Given the description of an element on the screen output the (x, y) to click on. 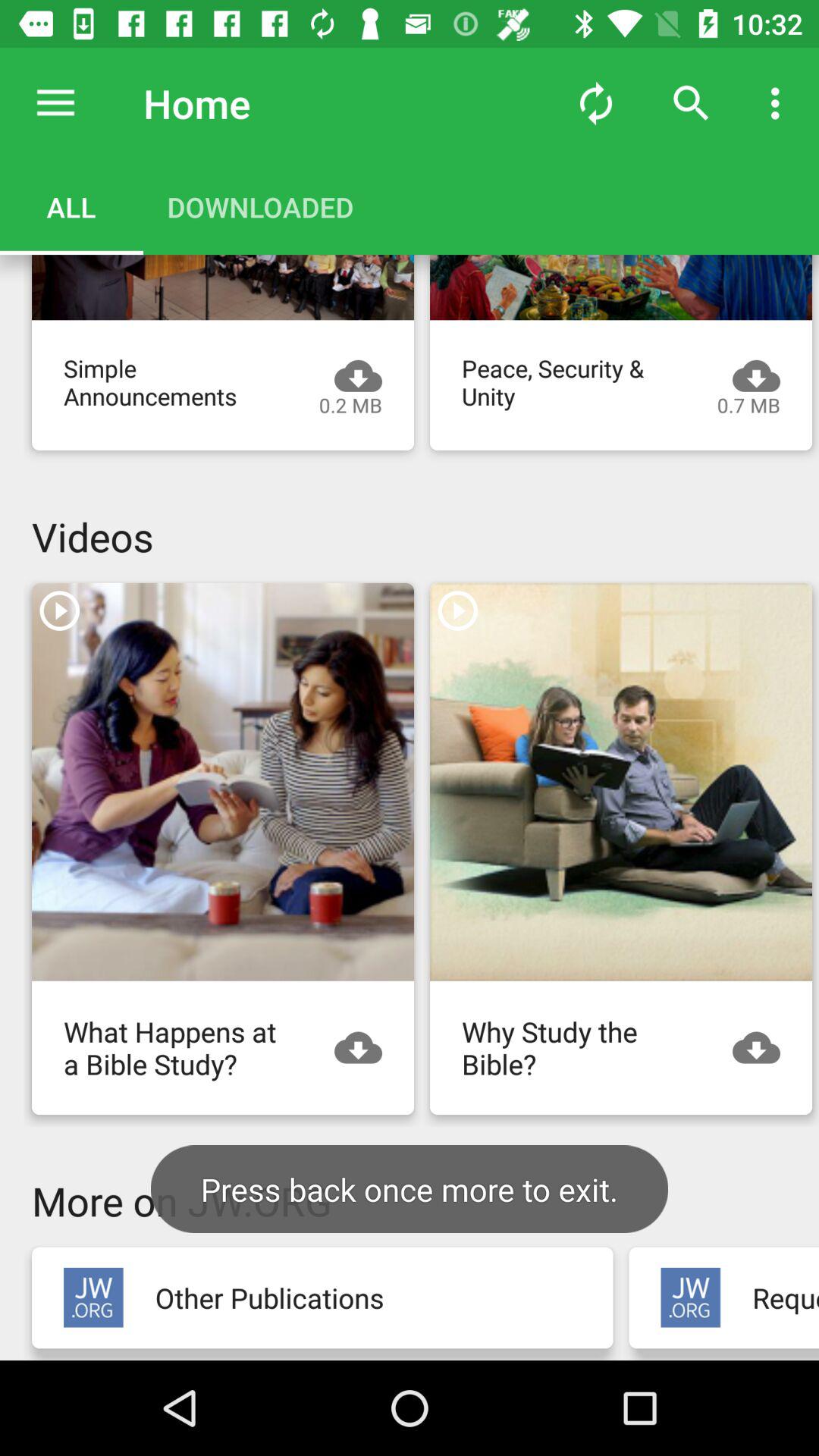
open advertisement (690, 1297)
